Given the description of an element on the screen output the (x, y) to click on. 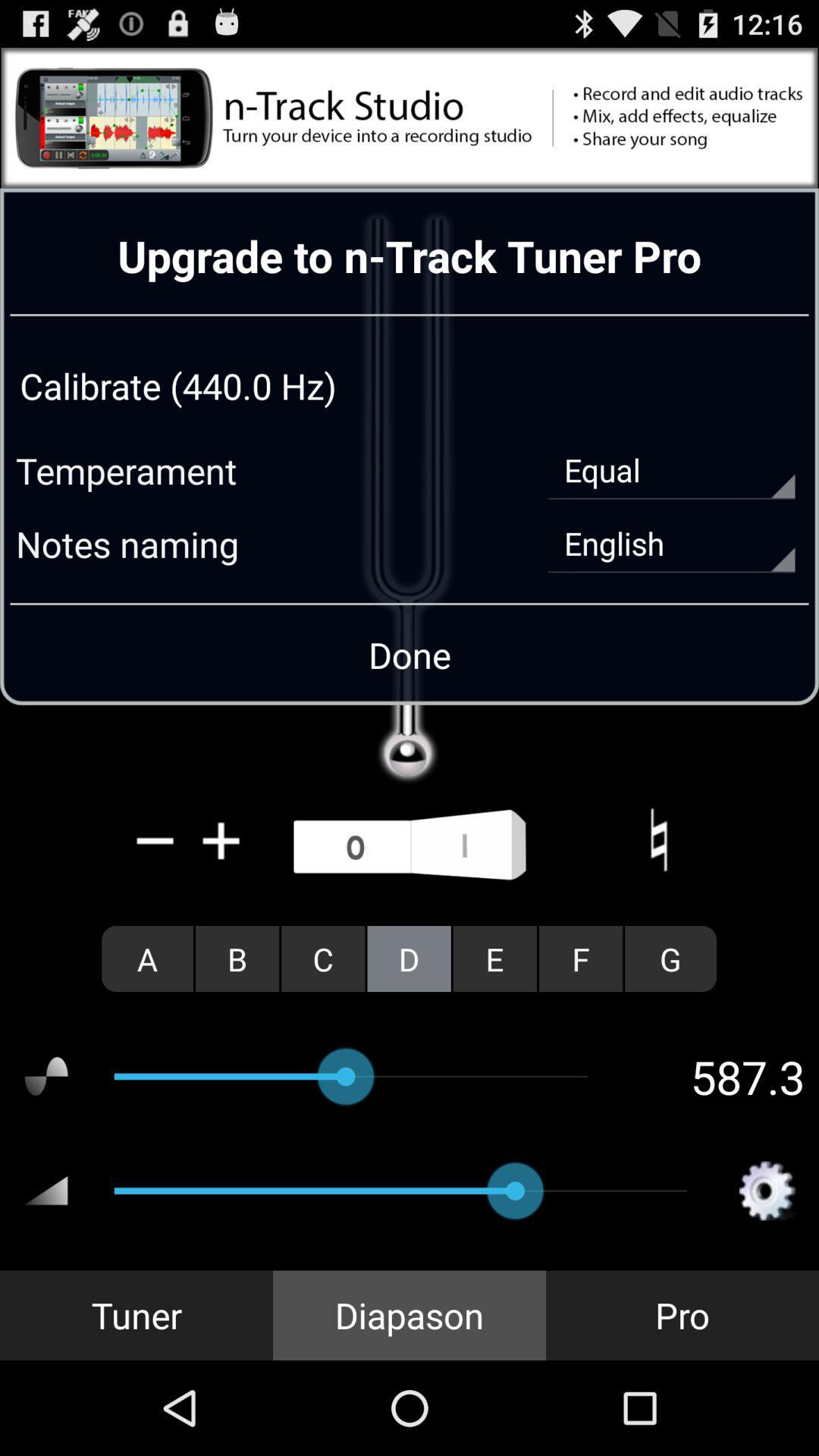
select icon next to the a (237, 958)
